Given the description of an element on the screen output the (x, y) to click on. 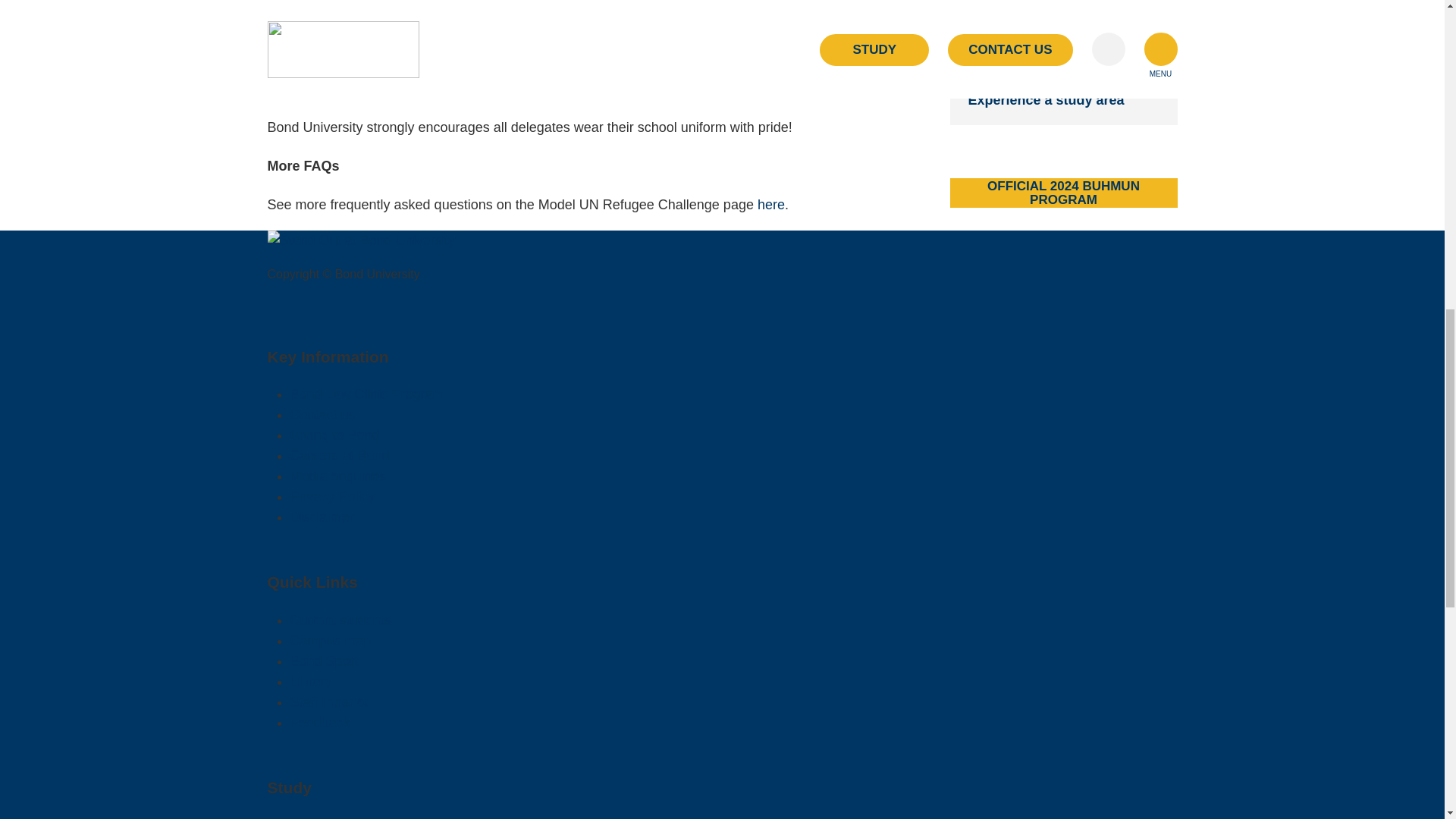
Careers at Bond (338, 455)
Disclaimer (321, 516)
Careers at Bond (338, 455)
Privacy Policy (331, 496)
Media enquiries (337, 476)
Contact us (322, 414)
Giving to Bond (333, 435)
Bond Sport (323, 661)
Library (310, 681)
Disclaimer (321, 516)
Contact us (322, 414)
Campus map (330, 640)
here (770, 204)
Giving to Bond (333, 435)
